Given the description of an element on the screen output the (x, y) to click on. 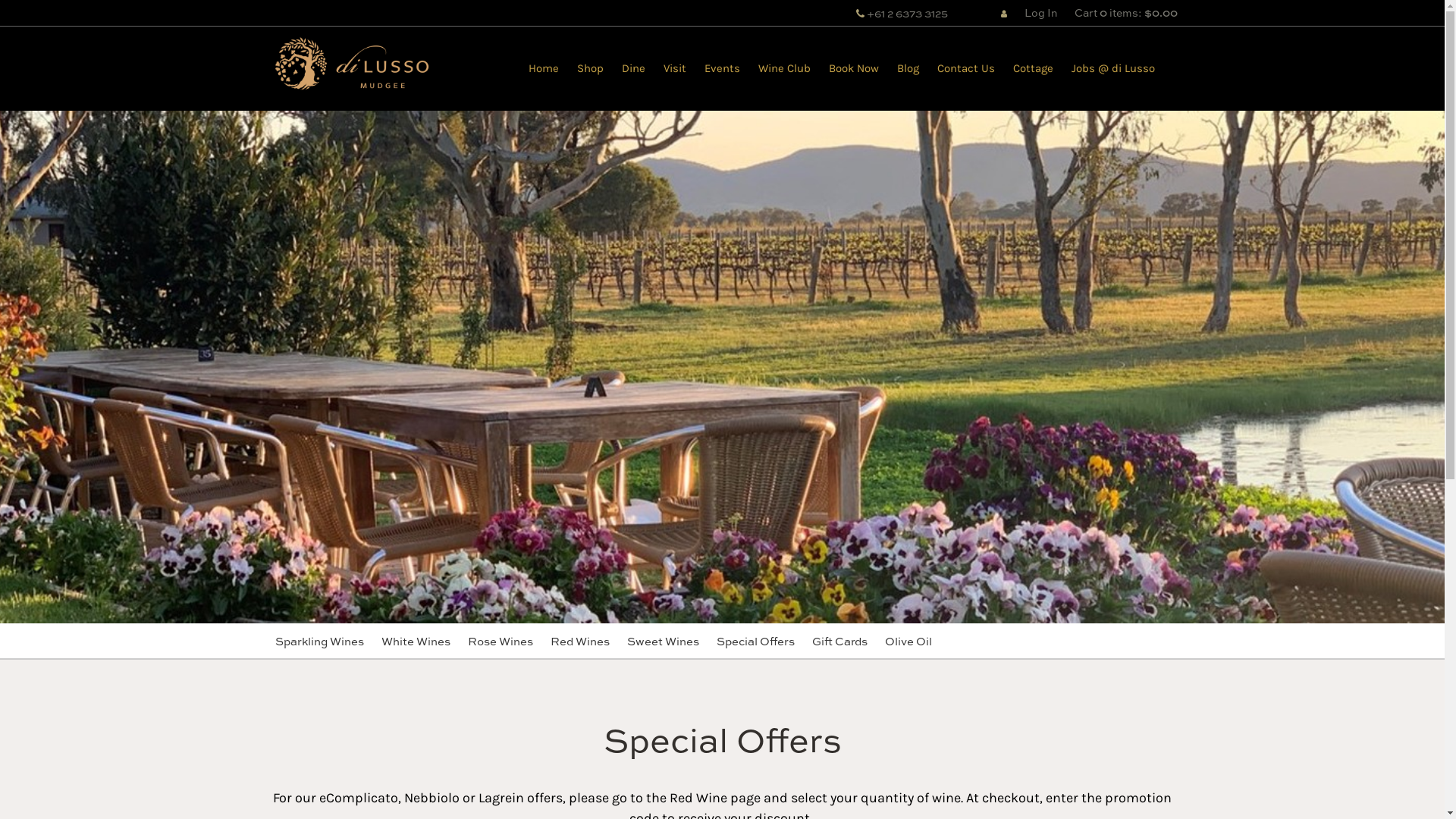
Wine Club Element type: text (784, 68)
Book Now Element type: text (853, 68)
Blog Element type: text (907, 68)
Olive Oil Element type: text (907, 640)
Log In Element type: text (1020, 11)
Contact Us Element type: text (965, 68)
Special Offers Element type: text (754, 640)
Rose Wines Element type: text (499, 640)
Visit Element type: text (673, 68)
Dine Element type: text (633, 68)
Shop Element type: text (589, 68)
Home Element type: text (542, 68)
Gift Cards Element type: text (838, 640)
Events Element type: text (721, 68)
Sparkling Wines Element type: text (318, 640)
Cart 0 items: $0.00 Element type: text (1124, 11)
Jobs @ di Lusso Element type: text (1112, 68)
di Lusso Estate Element type: text (349, 66)
Red Wines Element type: text (579, 640)
White Wines Element type: text (414, 640)
Sweet Wines Element type: text (662, 640)
Cottage Element type: text (1033, 68)
+61 2 6373 3125 Element type: text (901, 12)
